Given the description of an element on the screen output the (x, y) to click on. 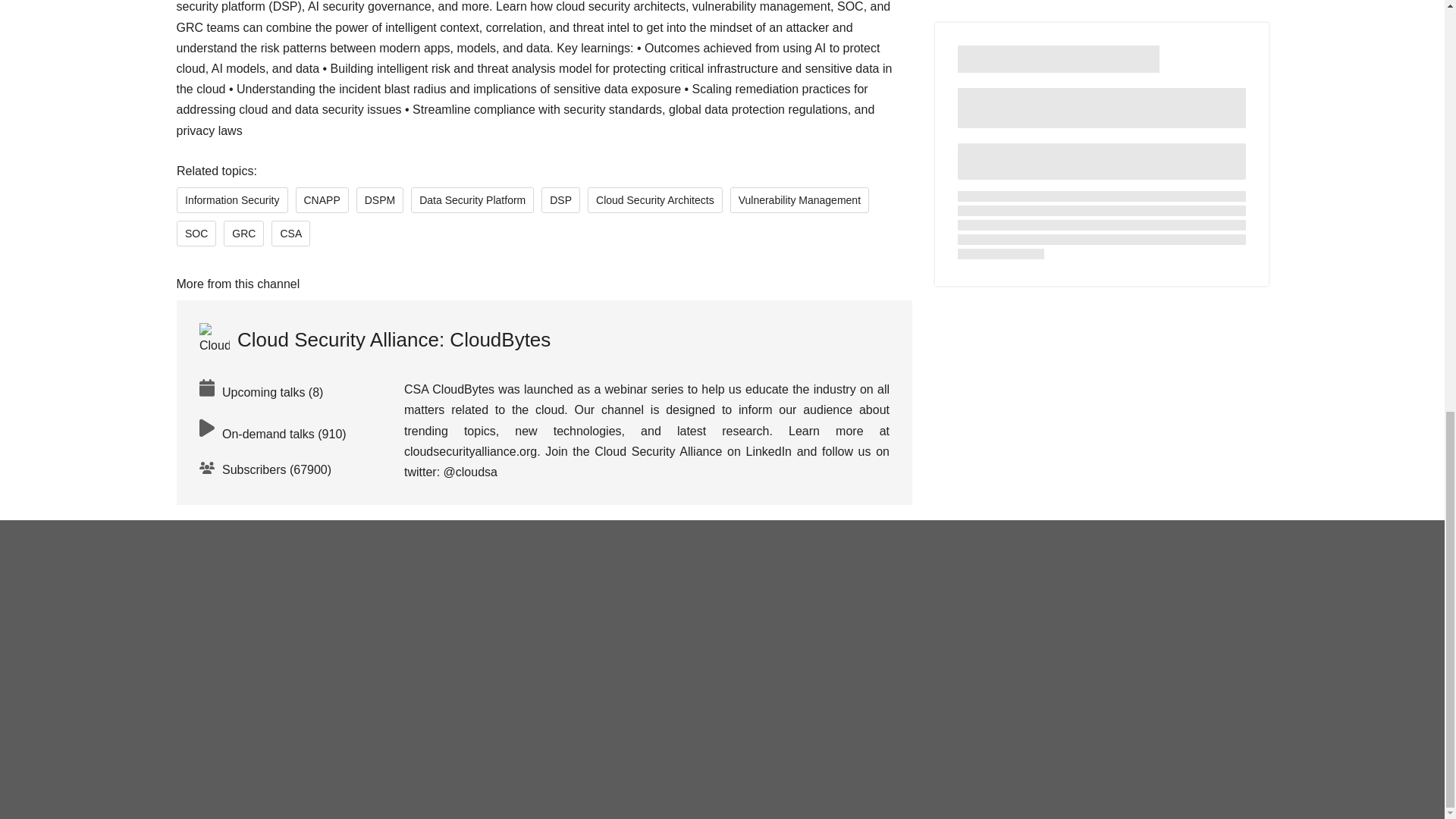
GRC (243, 233)
Vulnerability Management (798, 199)
CNAPP (321, 199)
SOC (195, 233)
DSP (560, 199)
CSA (290, 233)
Visit Cloud Security Alliance: CloudBytes's channel (374, 339)
Data Security Platform (472, 199)
DSPM (379, 199)
Cloud Security Alliance: CloudBytes (374, 339)
Cloud Security Architects (655, 199)
Information Security (231, 199)
